Given the description of an element on the screen output the (x, y) to click on. 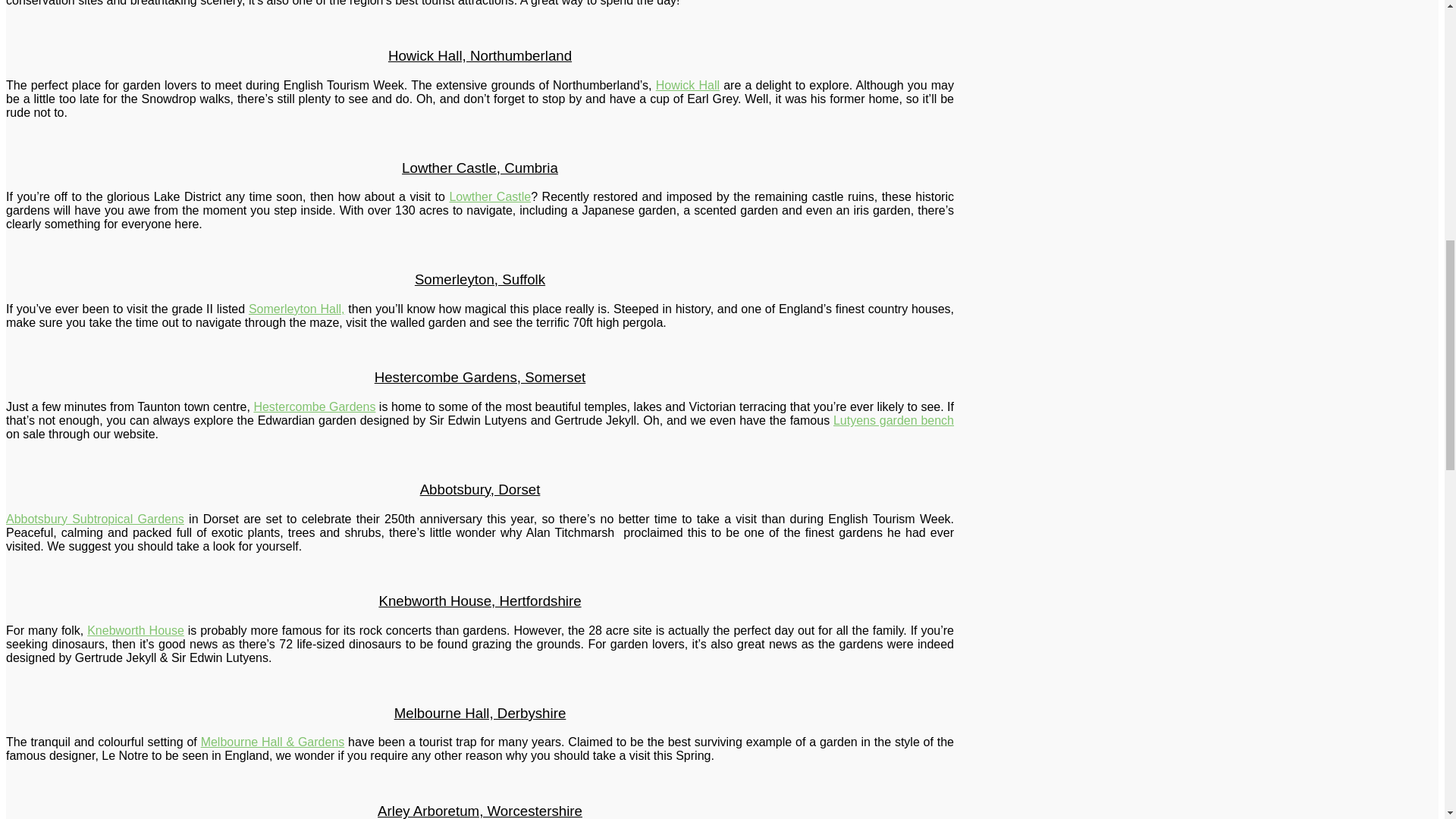
Somerleyton Hall, (296, 308)
Howick Hall (687, 84)
Knebworth House (135, 630)
Lowther Castle (489, 196)
Lutyens garden bench (892, 420)
Abbotsbury Subtropical Gardens (94, 518)
Hestercombe Gardens (314, 406)
